Given the description of an element on the screen output the (x, y) to click on. 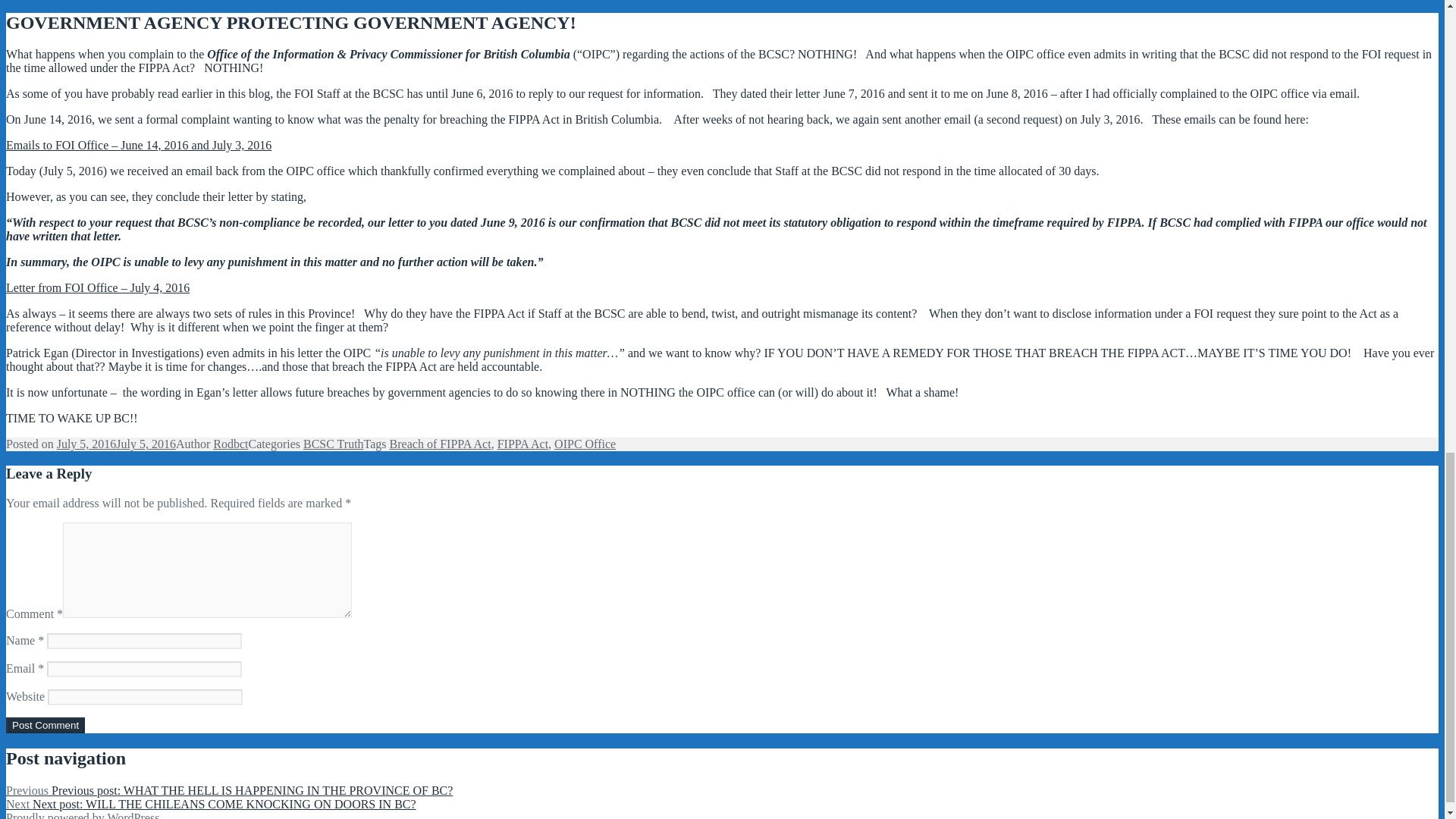
Post Comment (44, 725)
